Given the description of an element on the screen output the (x, y) to click on. 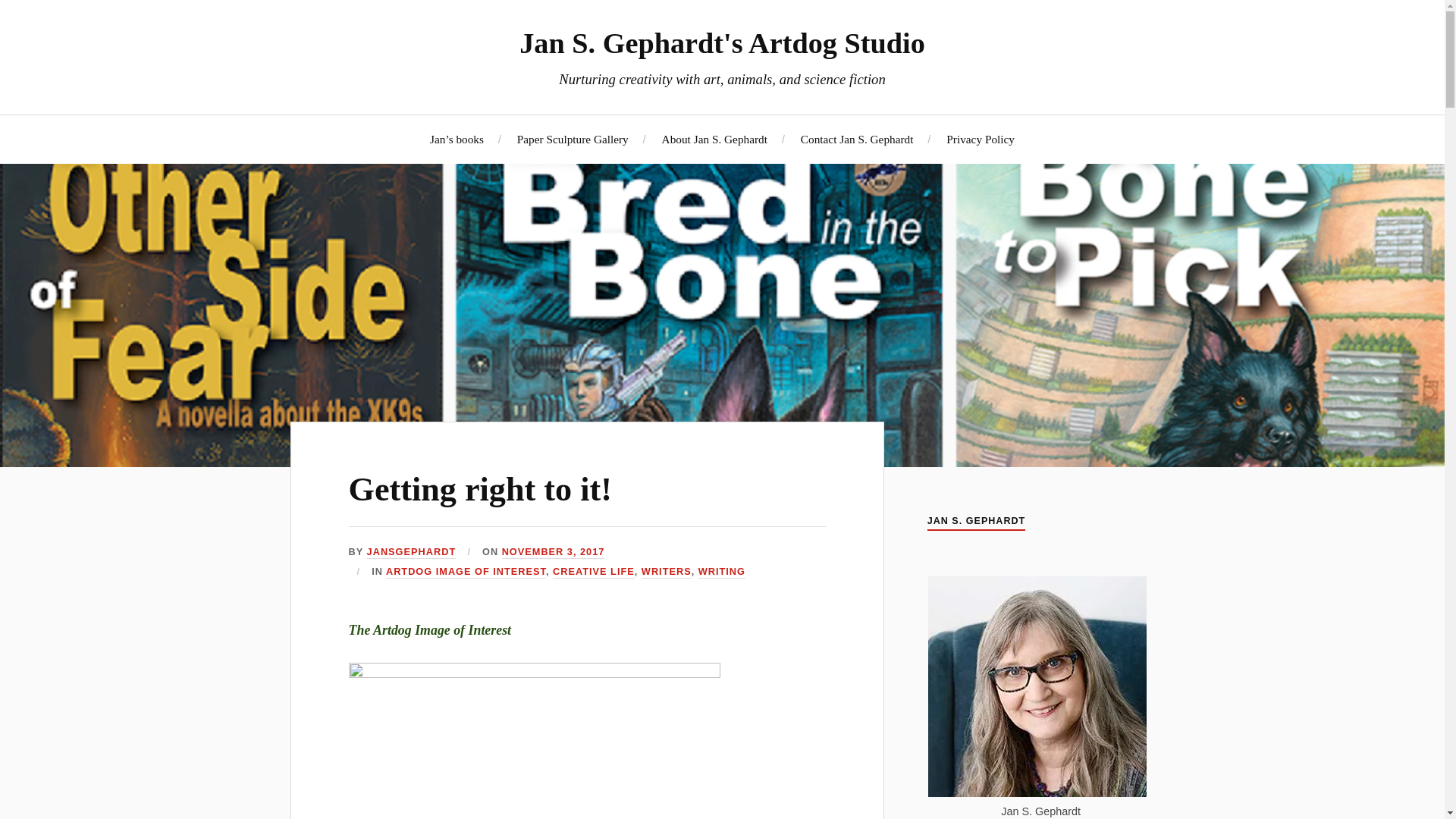
Jan S. Gephardt's Artdog Studio (721, 42)
Paper Sculpture Gallery (572, 138)
WRITING (721, 571)
NOVEMBER 3, 2017 (553, 552)
Getting right to it! (480, 488)
Posts by jansgephardt (411, 552)
ARTDOG IMAGE OF INTEREST (465, 571)
Contact Jan S. Gephardt (857, 138)
JANSGEPHARDT (411, 552)
About Jan S. Gephardt (714, 138)
Privacy Policy (980, 138)
CREATIVE LIFE (593, 571)
WRITERS (666, 571)
